Given the description of an element on the screen output the (x, y) to click on. 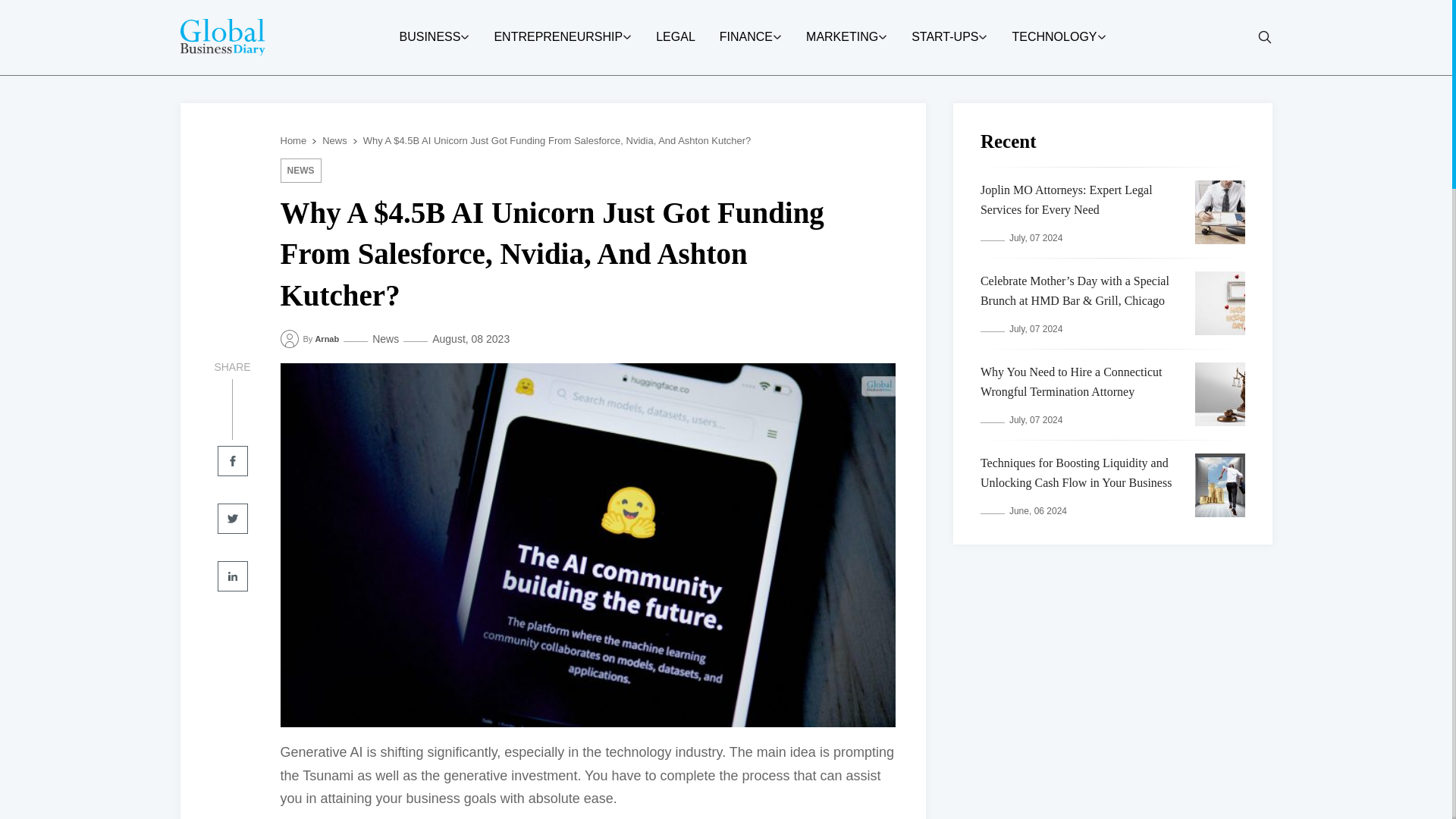
News (301, 169)
FINANCE (746, 37)
TECHNOLOGY (1053, 37)
BUSINESS (429, 37)
START-UPS (944, 37)
LEGAL (675, 37)
News (334, 140)
ENTREPRENEURSHIP (558, 37)
MARKETING (841, 37)
